Given the description of an element on the screen output the (x, y) to click on. 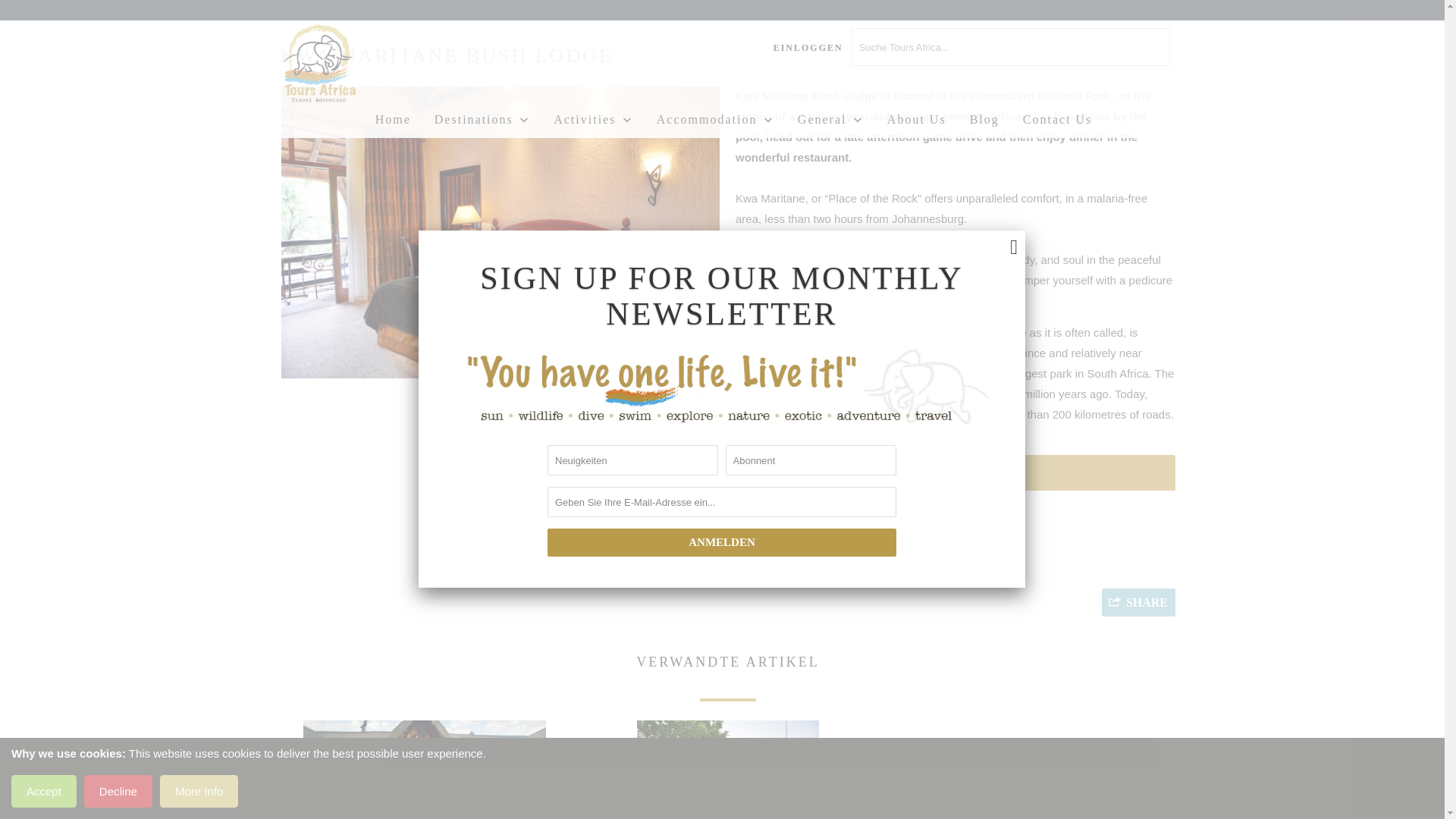
Mein Konto  (807, 46)
Anmelden (721, 542)
Tours Africa (358, 64)
Kwa Maritane Bush Lodge (140, 232)
Kwa Maritane Bush Lodge (500, 232)
